Given the description of an element on the screen output the (x, y) to click on. 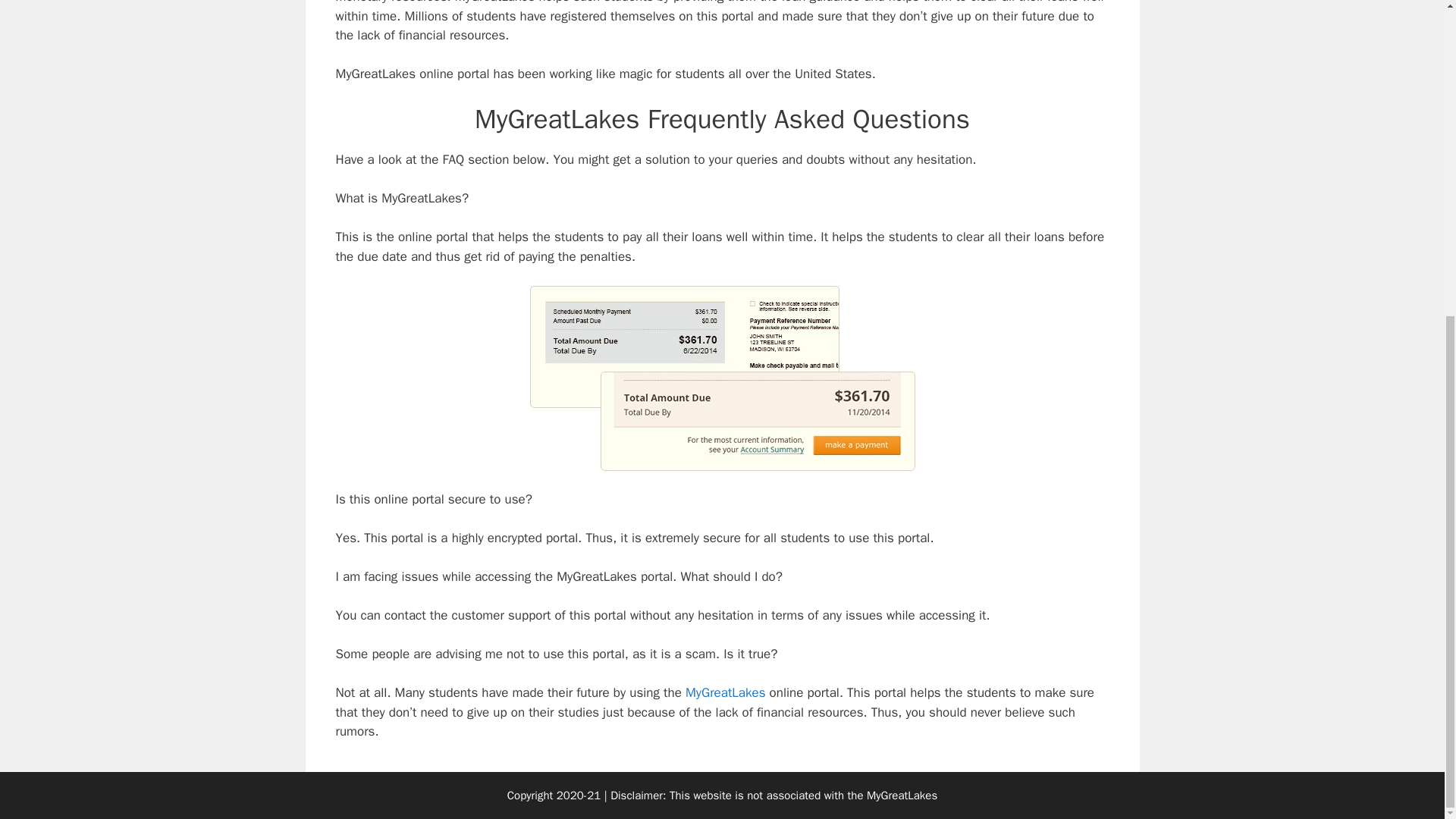
MyGreatLakes (901, 795)
MyGreatLakes (725, 692)
